Given the description of an element on the screen output the (x, y) to click on. 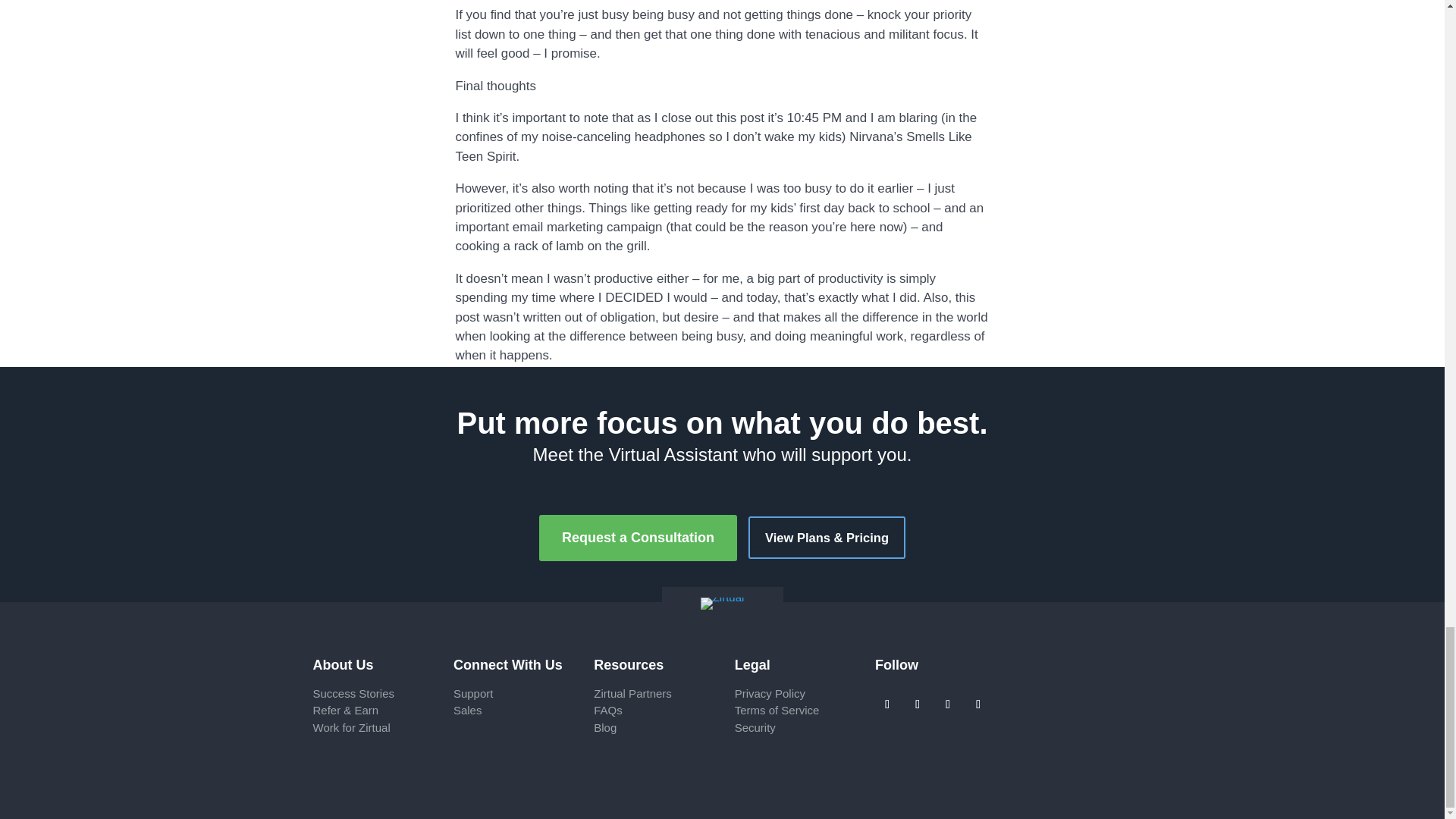
Request a Consultation (637, 538)
FAQs (608, 709)
faqs (608, 709)
Terms of Service (777, 709)
Blog (604, 727)
Zirtual Partners (632, 693)
affiliate program for Zirtual (345, 709)
Terms of Service (777, 709)
Privacy Policy (770, 693)
Zirtual Blog (604, 727)
reviews of Zirtual (353, 693)
Work for Zirtual (351, 727)
contact sales (466, 709)
Follow on Facebook (887, 704)
contact support (472, 693)
